Given the description of an element on the screen output the (x, y) to click on. 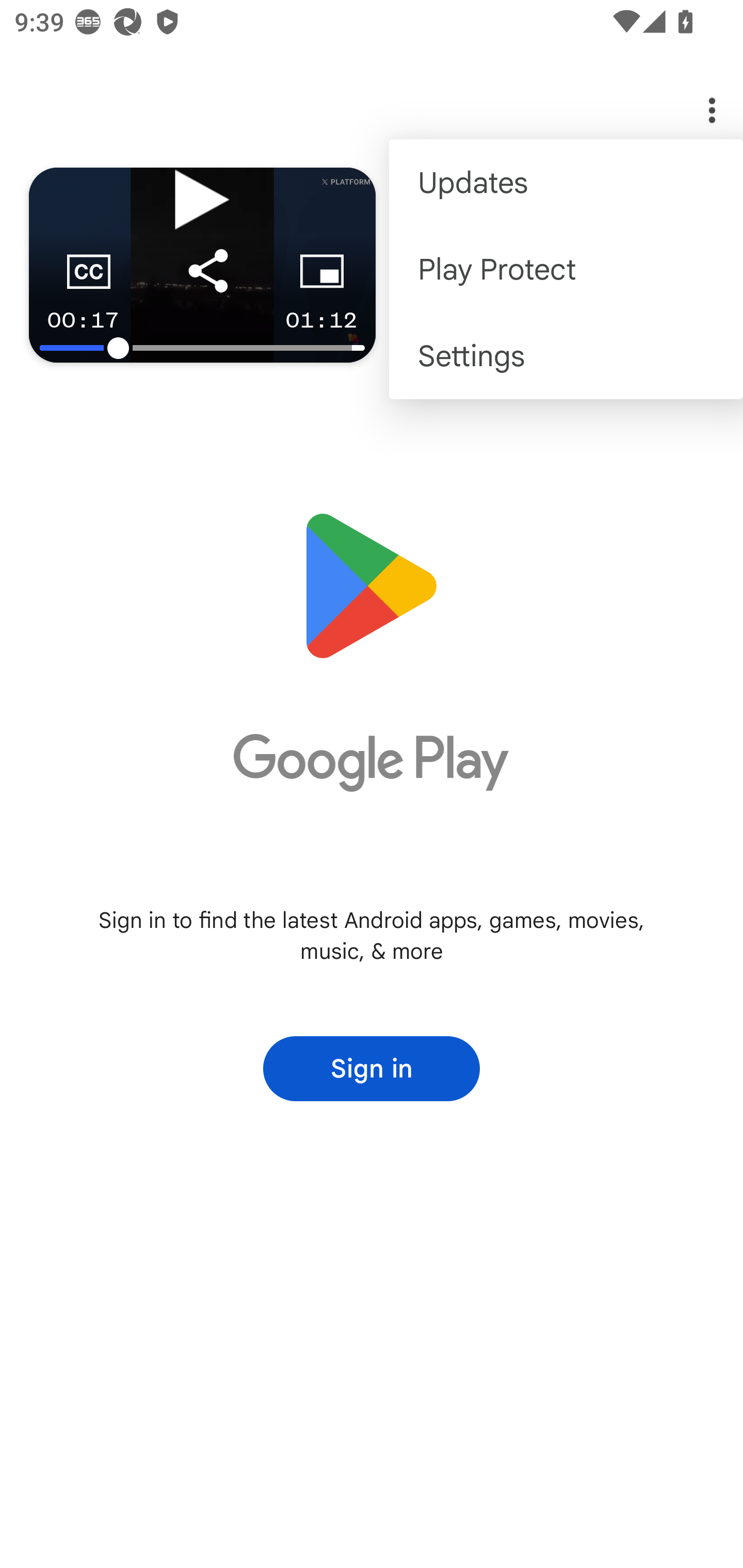
Updates (566, 182)
Play Protect (566, 268)
Settings (566, 355)
